Given the description of an element on the screen output the (x, y) to click on. 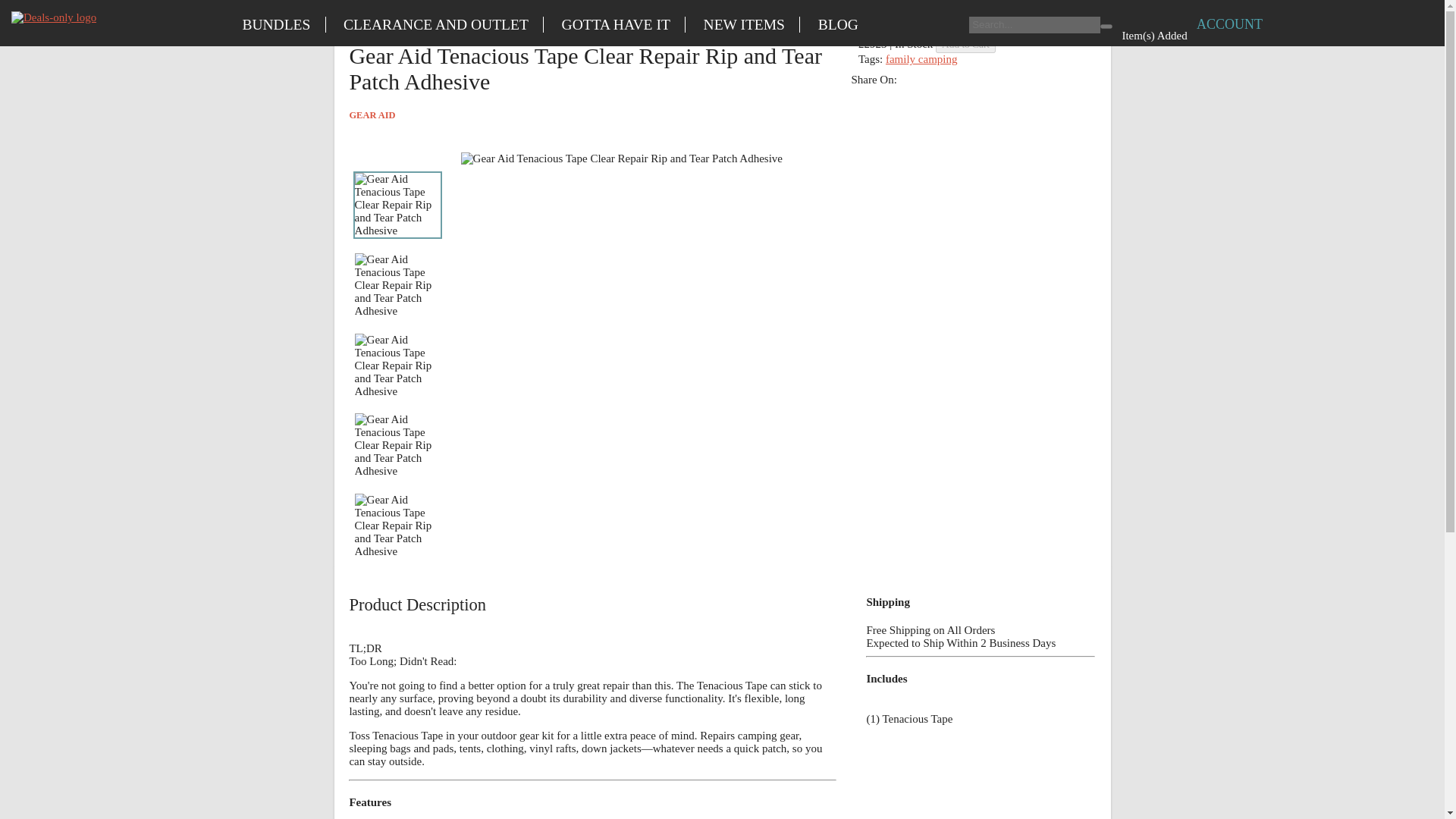
GOTTA HAVE IT (616, 24)
GEAR AID (592, 115)
Home (53, 17)
Add to Cart (965, 44)
gear repair maintenance (523, 21)
family camping (921, 59)
CLEARANCE AND OUTLET (436, 24)
tenacious tape repair patch clear (662, 21)
sporting goods (422, 21)
NEW ITEMS (743, 24)
